Given the description of an element on the screen output the (x, y) to click on. 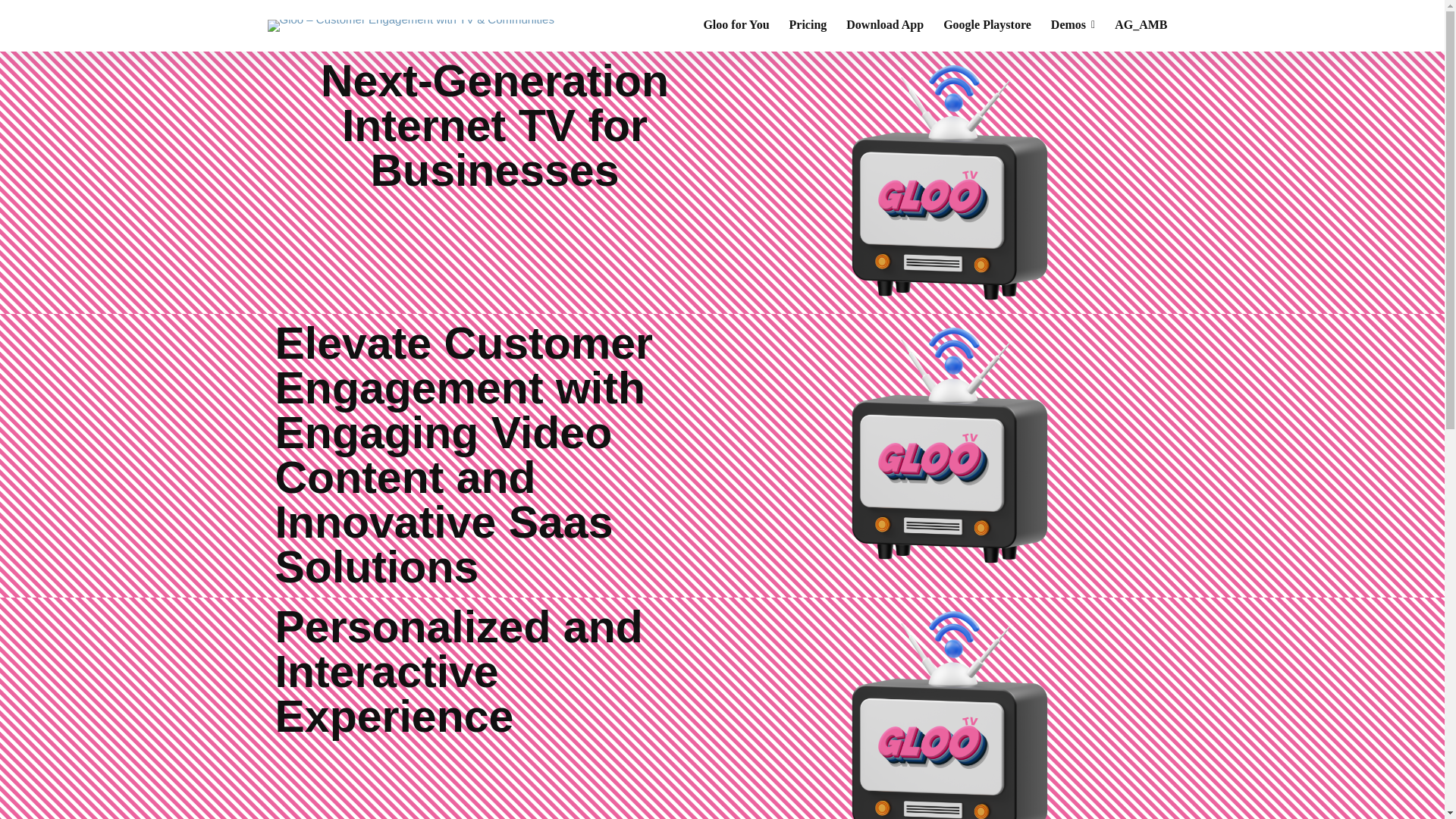
Google Playstore (987, 25)
Pricing (807, 25)
Download App (884, 25)
Demos (1073, 25)
Gloo for You (735, 25)
